Given the description of an element on the screen output the (x, y) to click on. 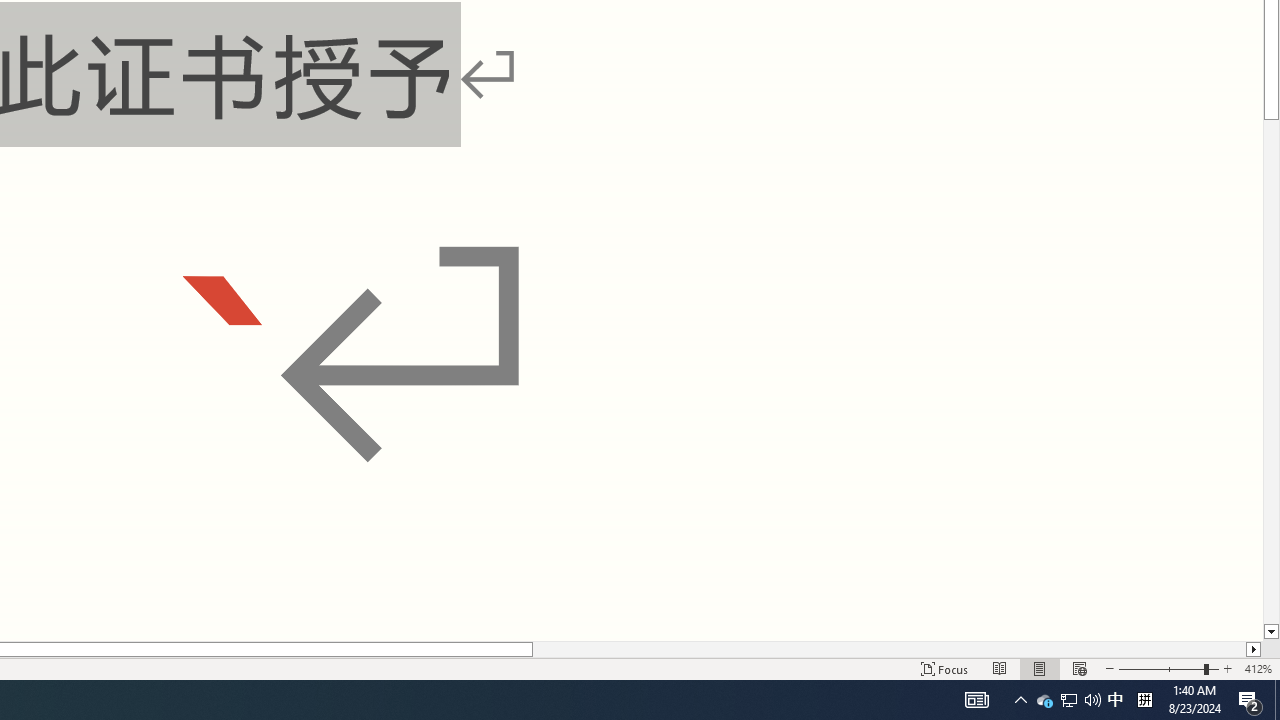
Column right (1254, 649)
Zoom 412% (1258, 668)
Page right (888, 649)
Page down (1271, 372)
Line down (1271, 632)
